Given the description of an element on the screen output the (x, y) to click on. 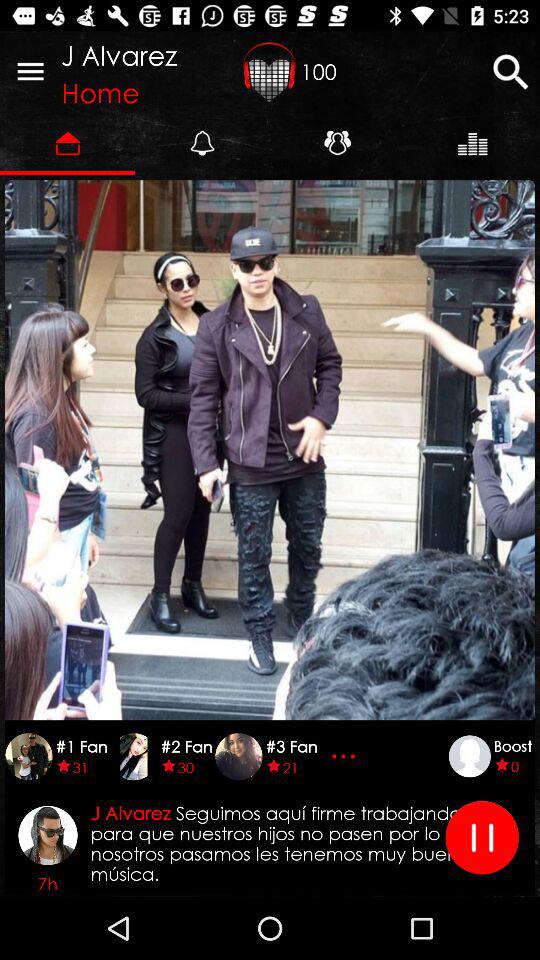
press icon above the j alvarez seguimos item (346, 756)
